Given the description of an element on the screen output the (x, y) to click on. 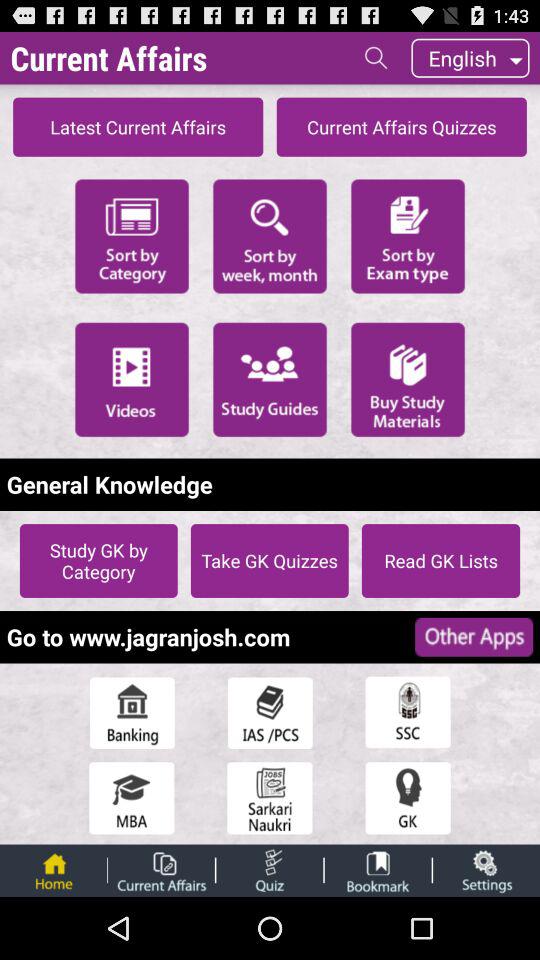
open app location (407, 712)
